Given the description of an element on the screen output the (x, y) to click on. 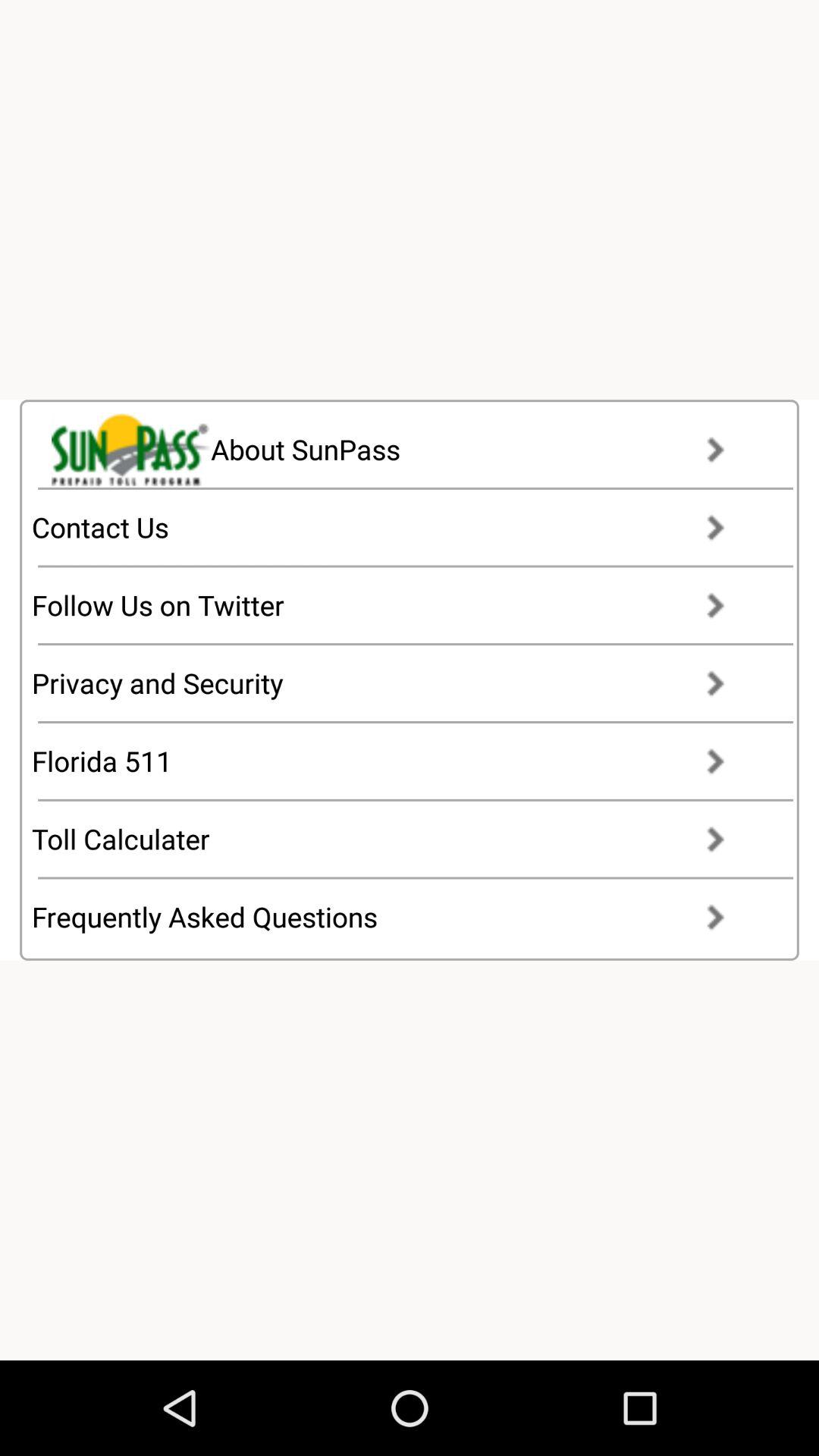
swipe until florida 511 icon (392, 761)
